Given the description of an element on the screen output the (x, y) to click on. 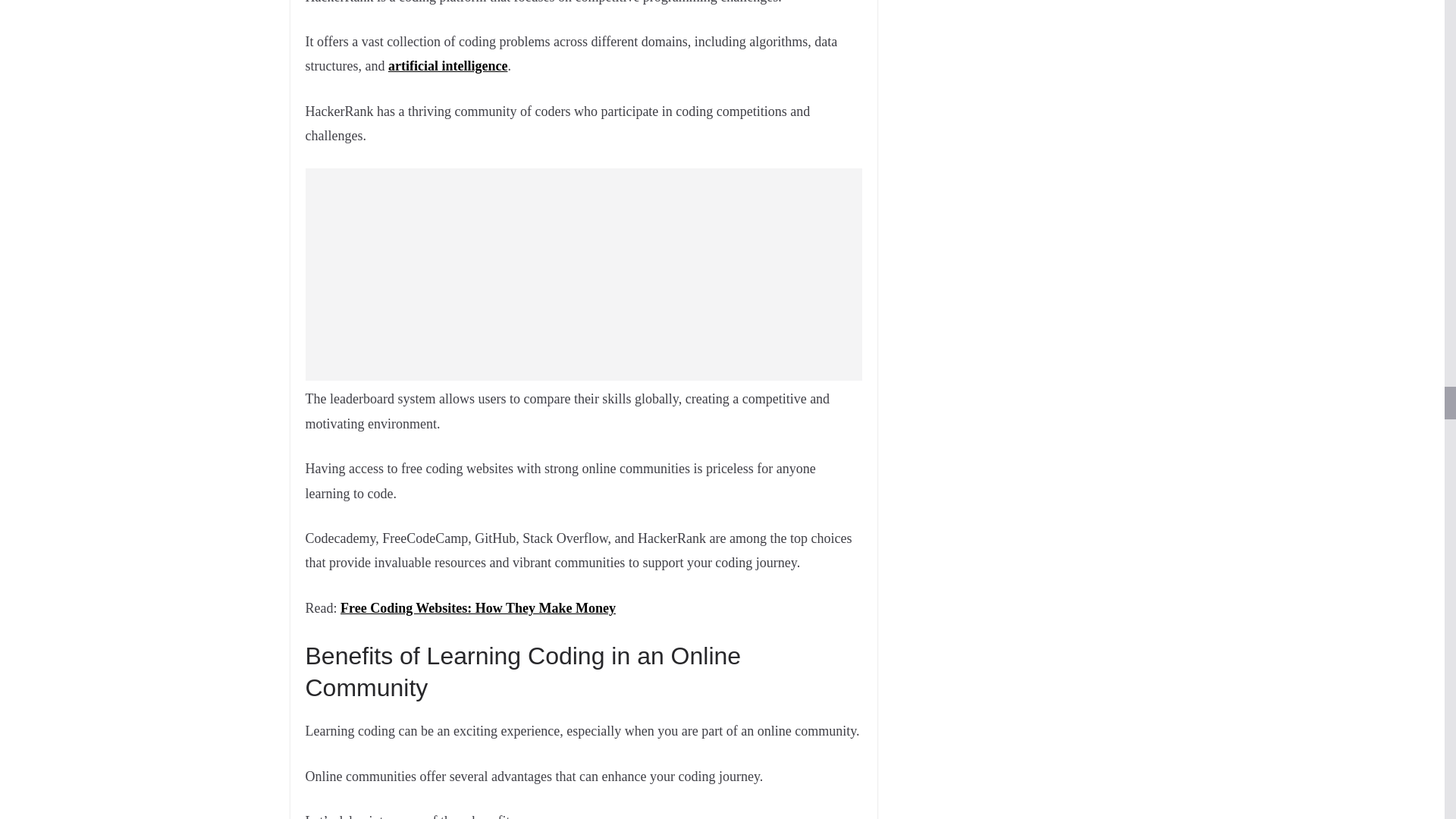
artificial intelligence (447, 65)
Free Coding Websites: How They Make Money (477, 607)
